Given the description of an element on the screen output the (x, y) to click on. 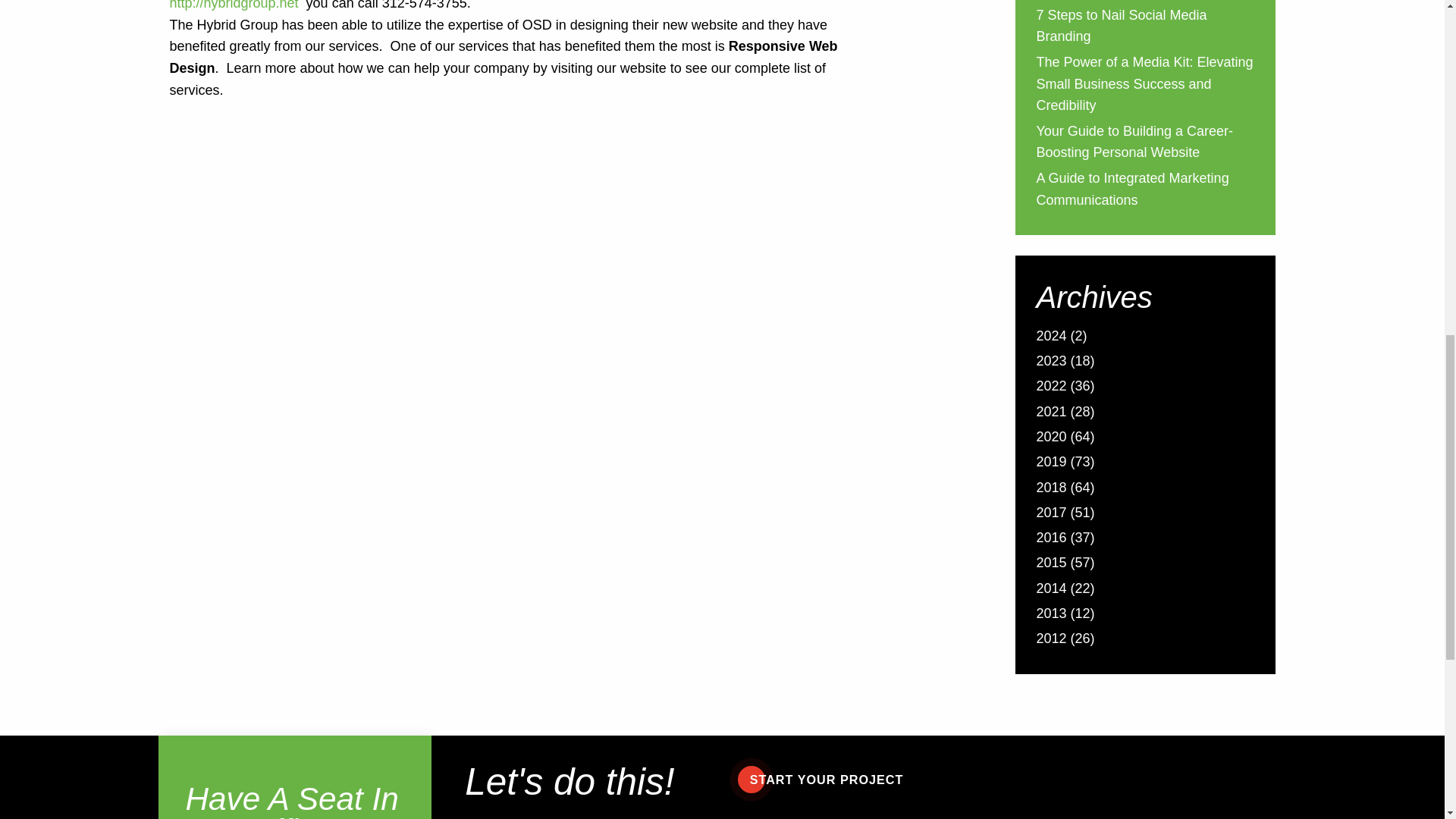
2021 (1050, 413)
2014 (1050, 589)
2024 (1050, 337)
2023 (1050, 362)
7 Steps to Nail Social Media Branding (1121, 27)
2020 (1050, 438)
2012 (1050, 640)
Your Guide to Building a Career-Boosting Personal Website (1134, 143)
2019 (1050, 463)
2015 (1050, 564)
A Guide to Integrated Marketing Communications (1131, 190)
2018 (1050, 488)
2022 (1050, 387)
